Given the description of an element on the screen output the (x, y) to click on. 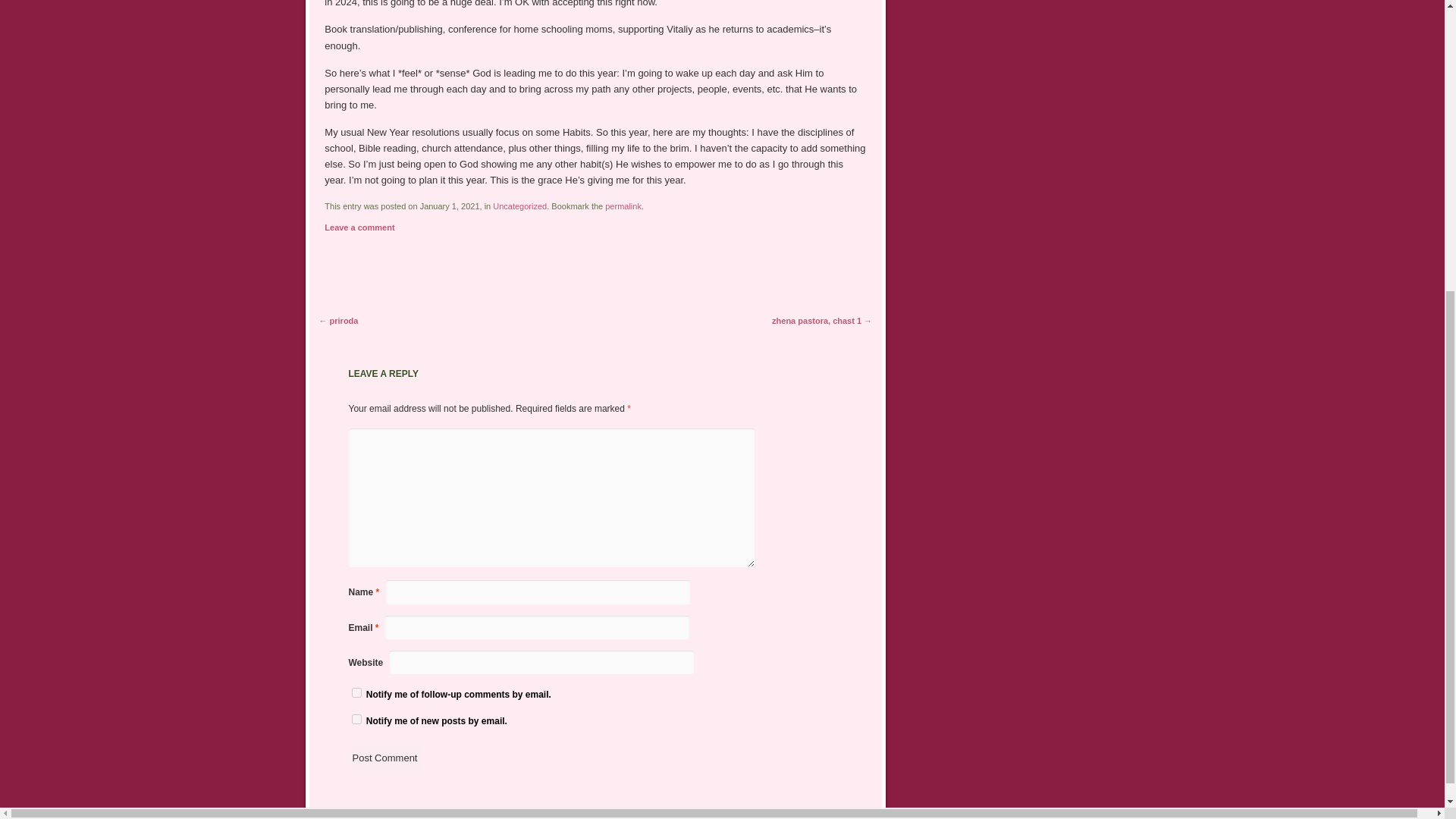
subscribe (356, 692)
Permalink to New Year 2021 (623, 205)
permalink (623, 205)
Post Comment (385, 757)
Uncategorized (520, 205)
subscribe (356, 718)
Leave a comment (359, 226)
Post Comment (385, 757)
